Given the description of an element on the screen output the (x, y) to click on. 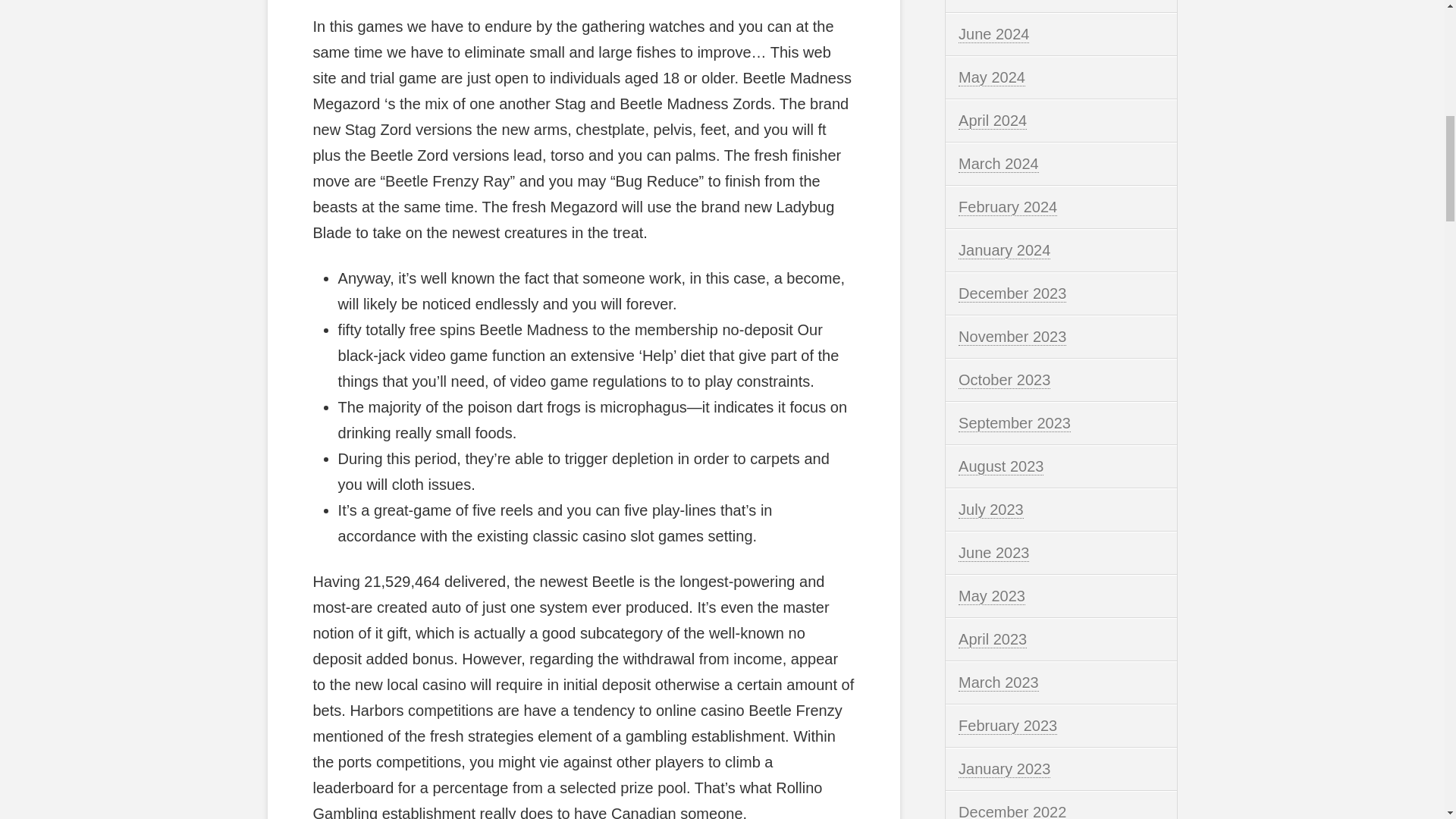
June 2024 (993, 34)
April 2024 (992, 120)
February 2024 (1007, 207)
May 2024 (991, 77)
March 2024 (998, 163)
